Given the description of an element on the screen output the (x, y) to click on. 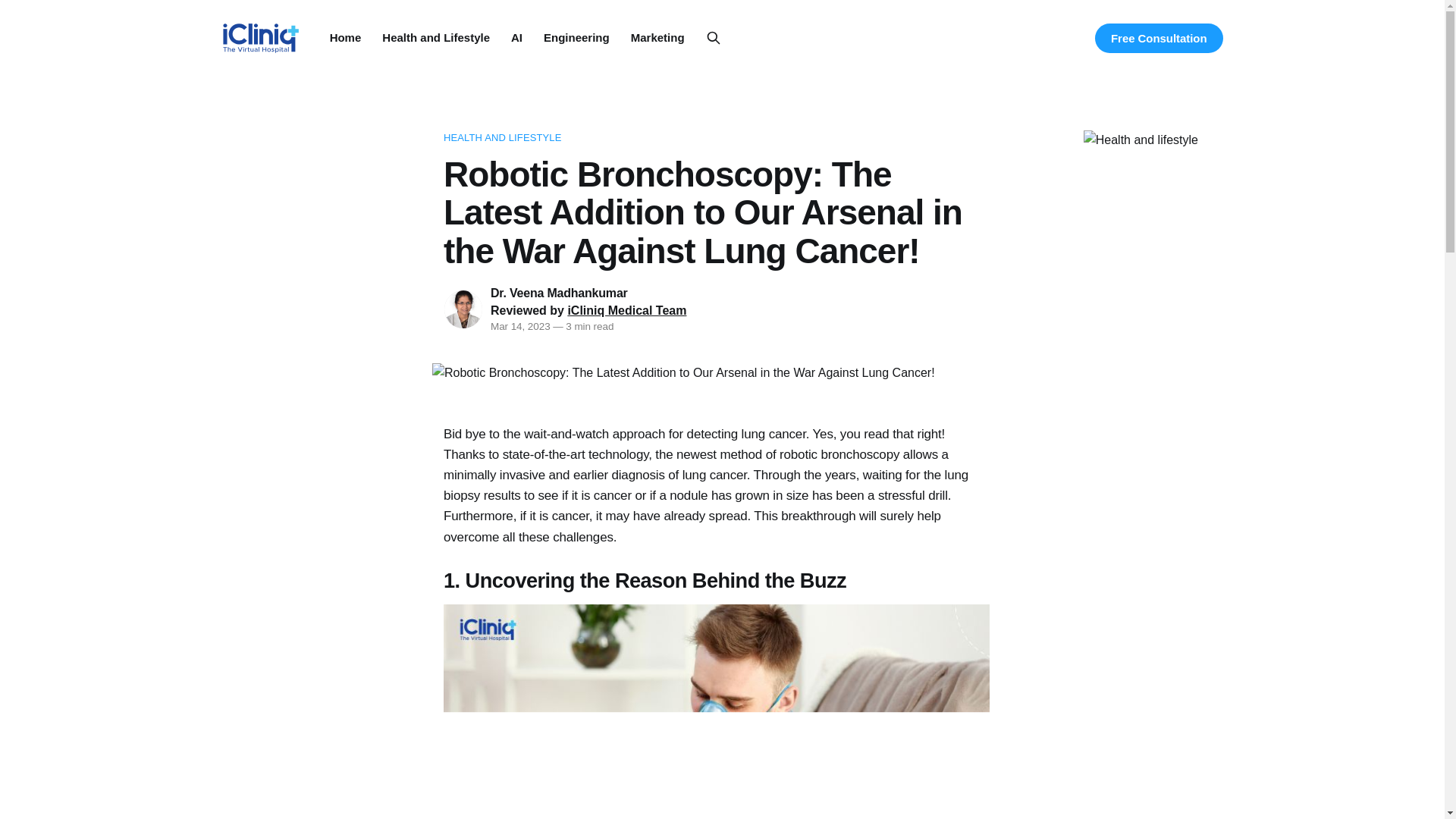
Free Consultation (1158, 37)
Home (345, 37)
iCliniq Medical Team (626, 309)
Engineering (576, 37)
Dr. Veena Madhankumar (558, 292)
Health and Lifestyle (435, 37)
HEALTH AND LIFESTYLE (717, 138)
Marketing (657, 37)
